Given the description of an element on the screen output the (x, y) to click on. 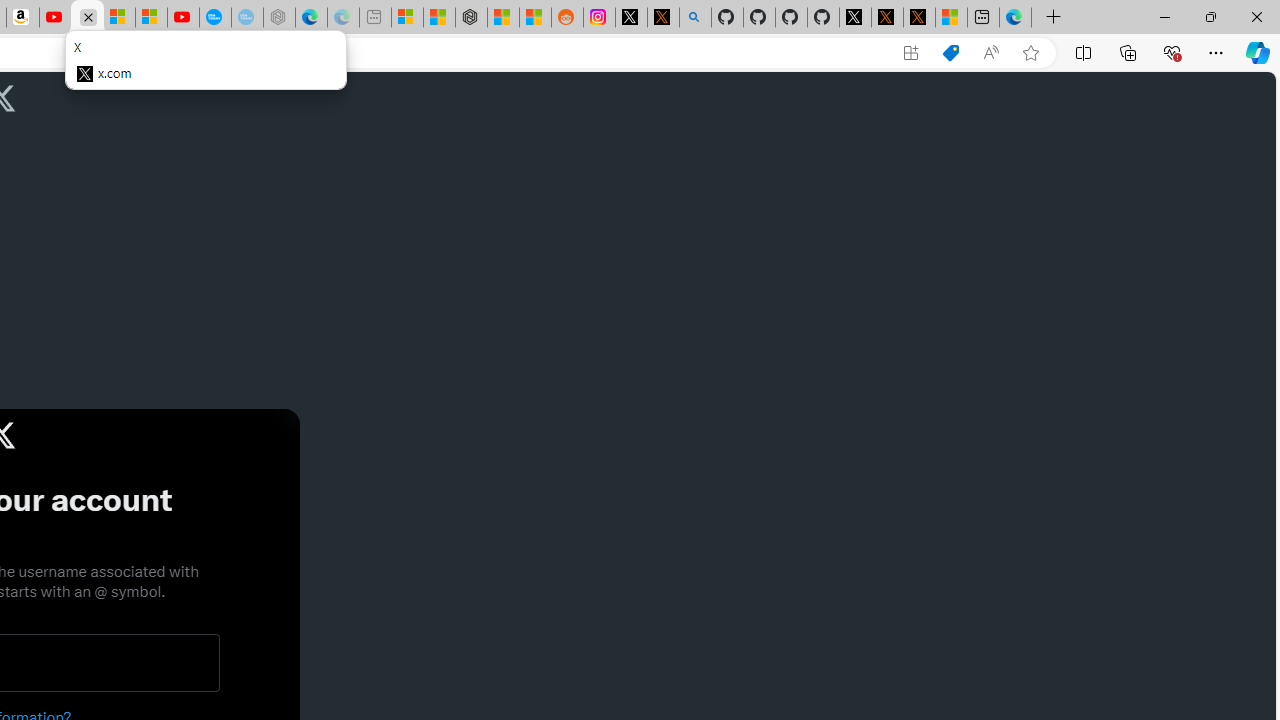
Day 1: Arriving in Yemen (surreal to be here) - YouTube (54, 17)
Shopping in Microsoft Edge (950, 53)
Profile / X (855, 17)
New tab - Sleeping (374, 17)
Log in to X / X (630, 17)
